Given the description of an element on the screen output the (x, y) to click on. 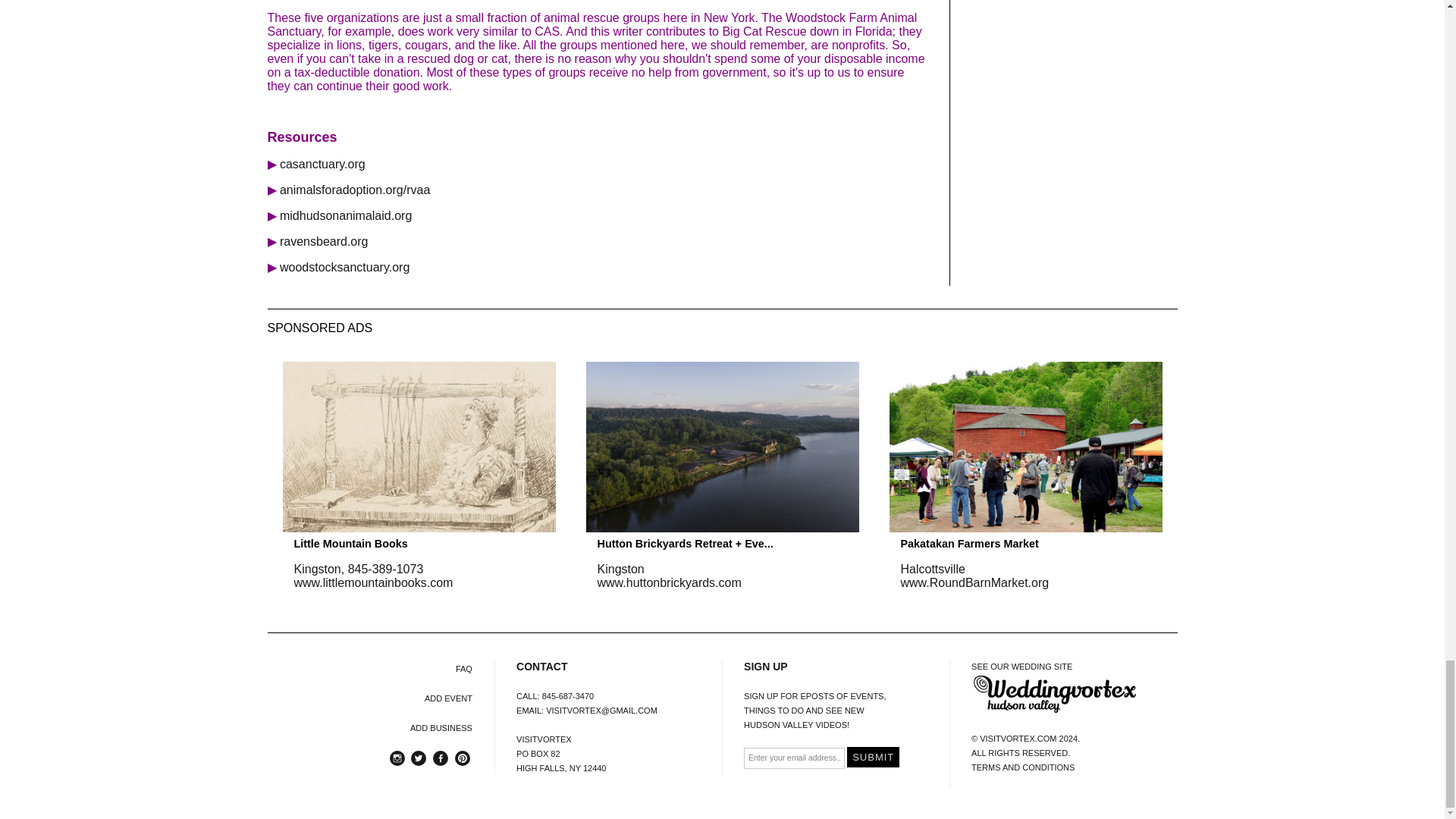
Enter your email address... (794, 758)
SUBMIT (873, 756)
midhudsonanimalaid.org (345, 215)
casanctuary.org (322, 164)
ravensbeard.org (323, 241)
woodstocksanctuary.org (344, 267)
